Given the description of an element on the screen output the (x, y) to click on. 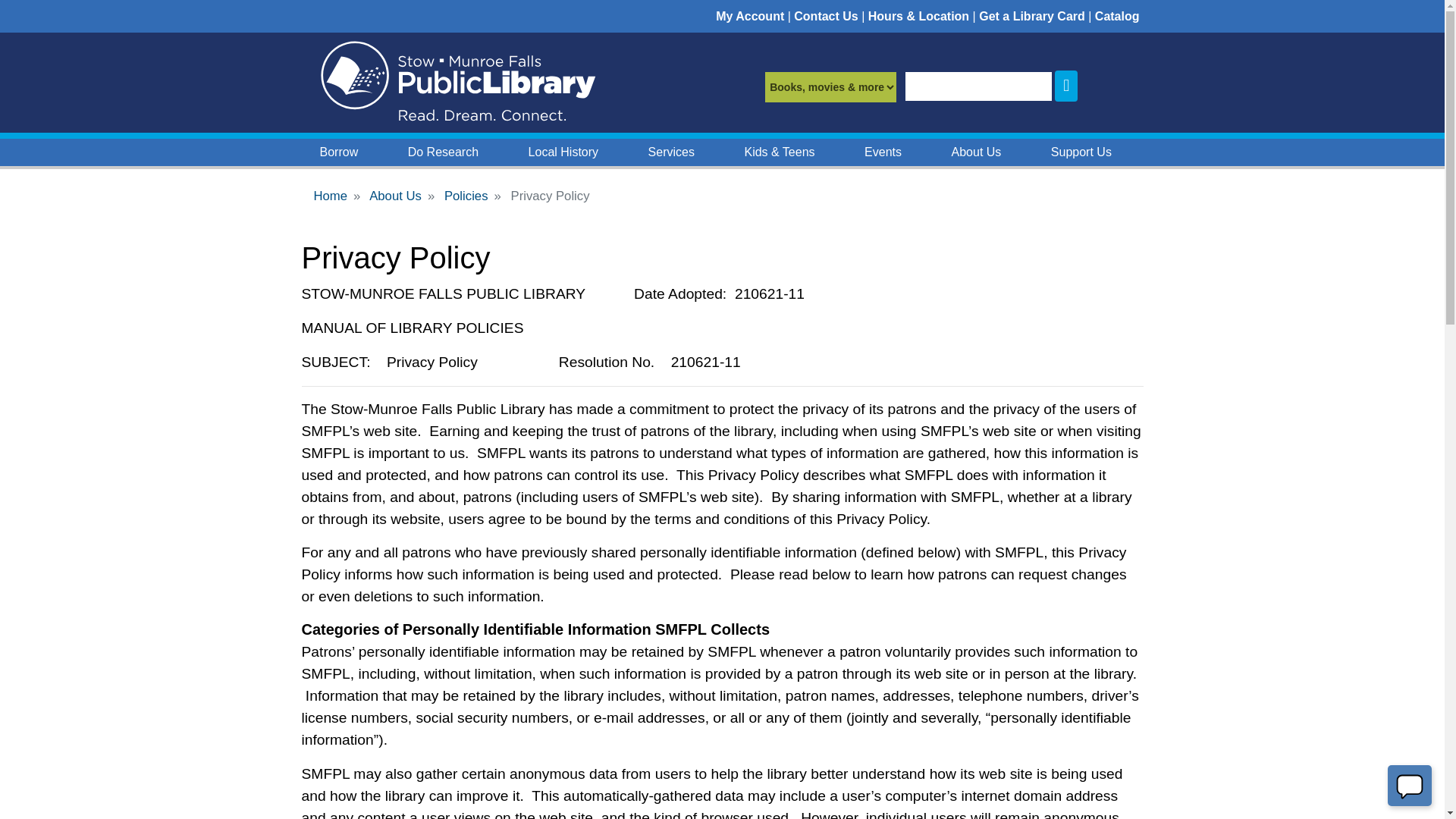
My Account (750, 15)
Offline (1409, 784)
Borrow (339, 152)
Offline (1409, 786)
Services (671, 152)
Get a Library Card (1029, 15)
Contact Us (825, 15)
Home (456, 82)
Catalog (1117, 15)
Do Research (443, 152)
Local History (563, 152)
